Given the description of an element on the screen output the (x, y) to click on. 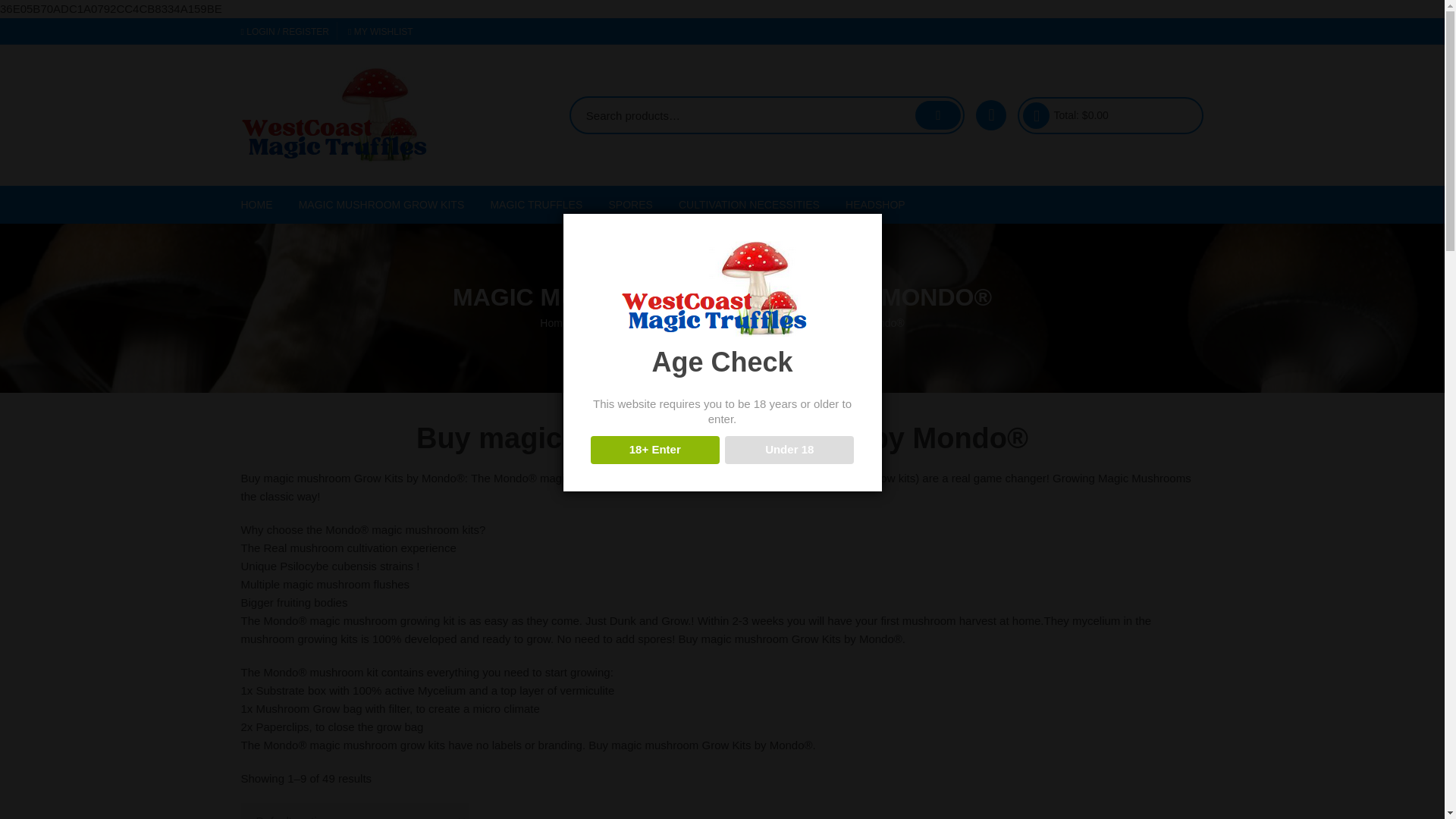
Vaporizers (928, 423)
Temperature (761, 350)
MAGIC MUSHROOM GROW KITS (381, 204)
Rolling Papers (928, 387)
Humidity (761, 387)
Make a Spore Syringe (691, 470)
HOME (262, 204)
Spore vials Magic Truffles (691, 434)
Accessories (928, 241)
Grinders (928, 314)
Pipes (928, 350)
Spores Panaeolus Cyanescens (691, 398)
SPORES (629, 204)
Containers (761, 241)
Grow Kits without Mycelium (381, 346)
